Given the description of an element on the screen output the (x, y) to click on. 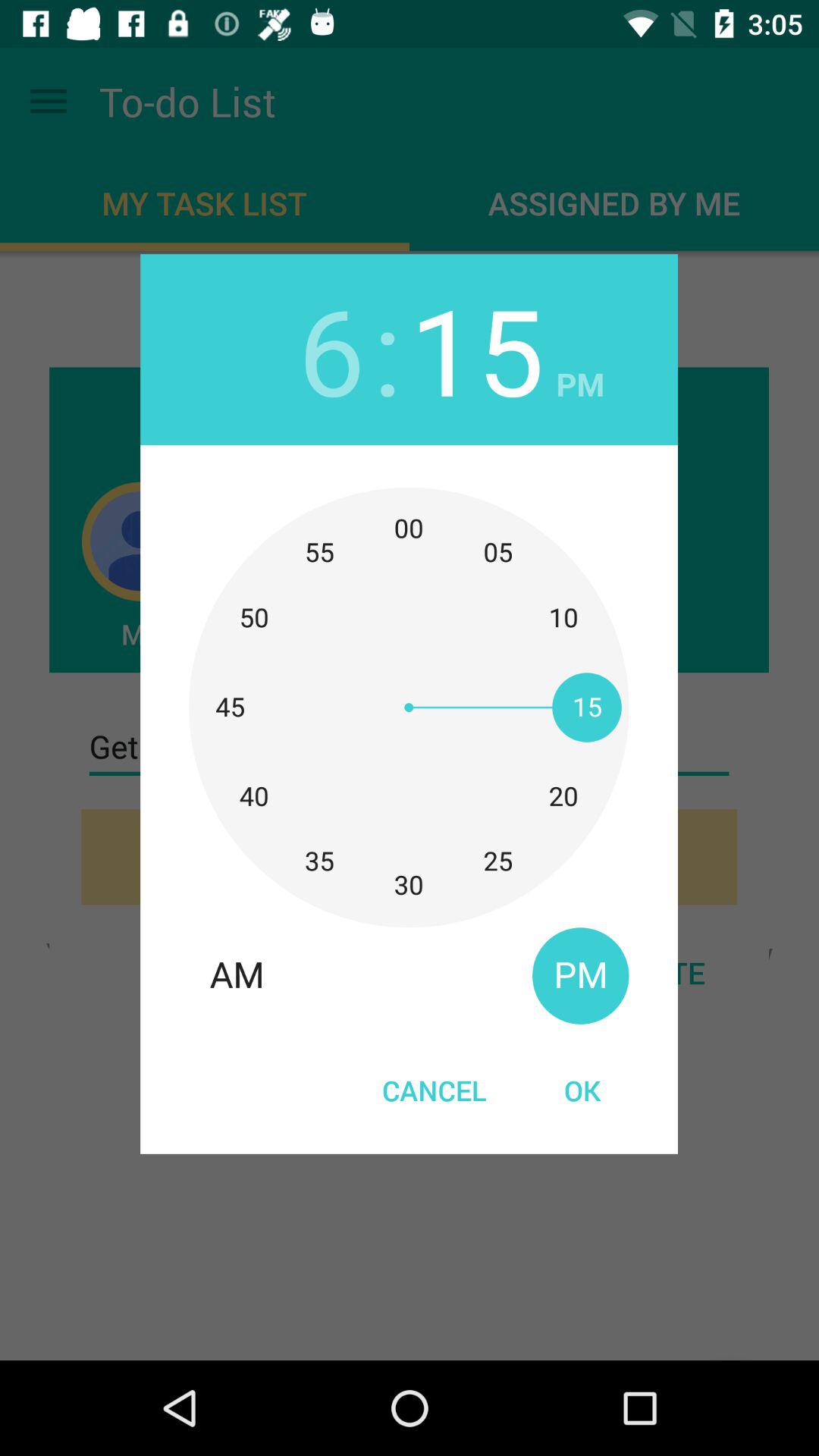
scroll until the 6 icon (331, 349)
